Given the description of an element on the screen output the (x, y) to click on. 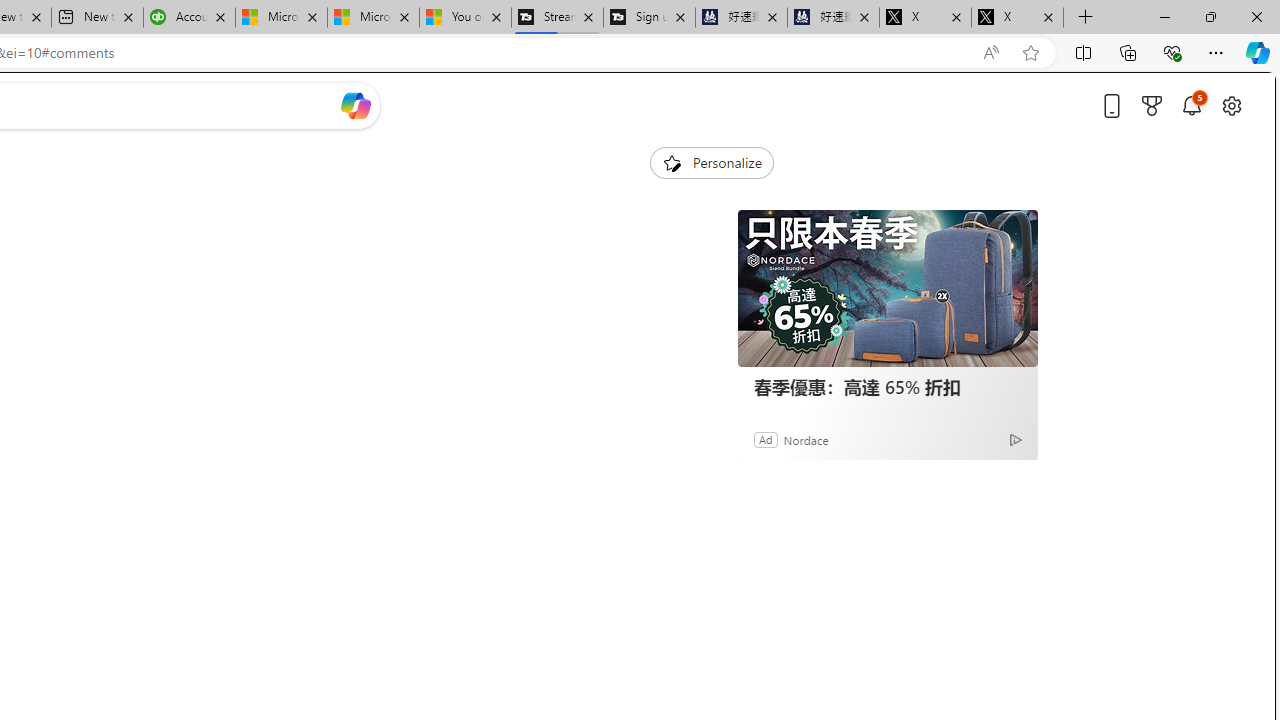
Notifications (1192, 105)
Open Copilot (355, 105)
Personalize (711, 162)
